Given the description of an element on the screen output the (x, y) to click on. 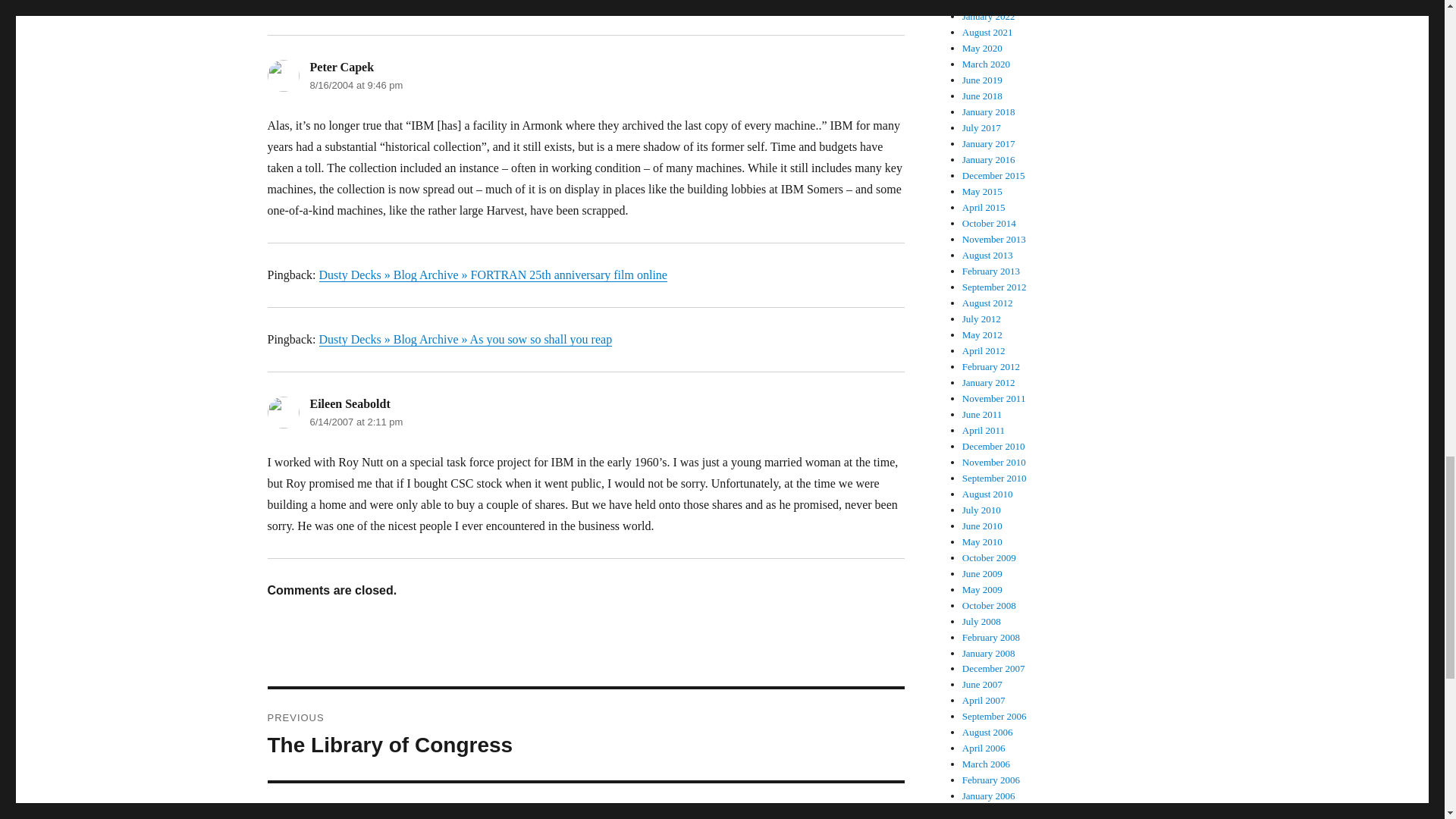
Fortran at Livermore (585, 734)
